Given the description of an element on the screen output the (x, y) to click on. 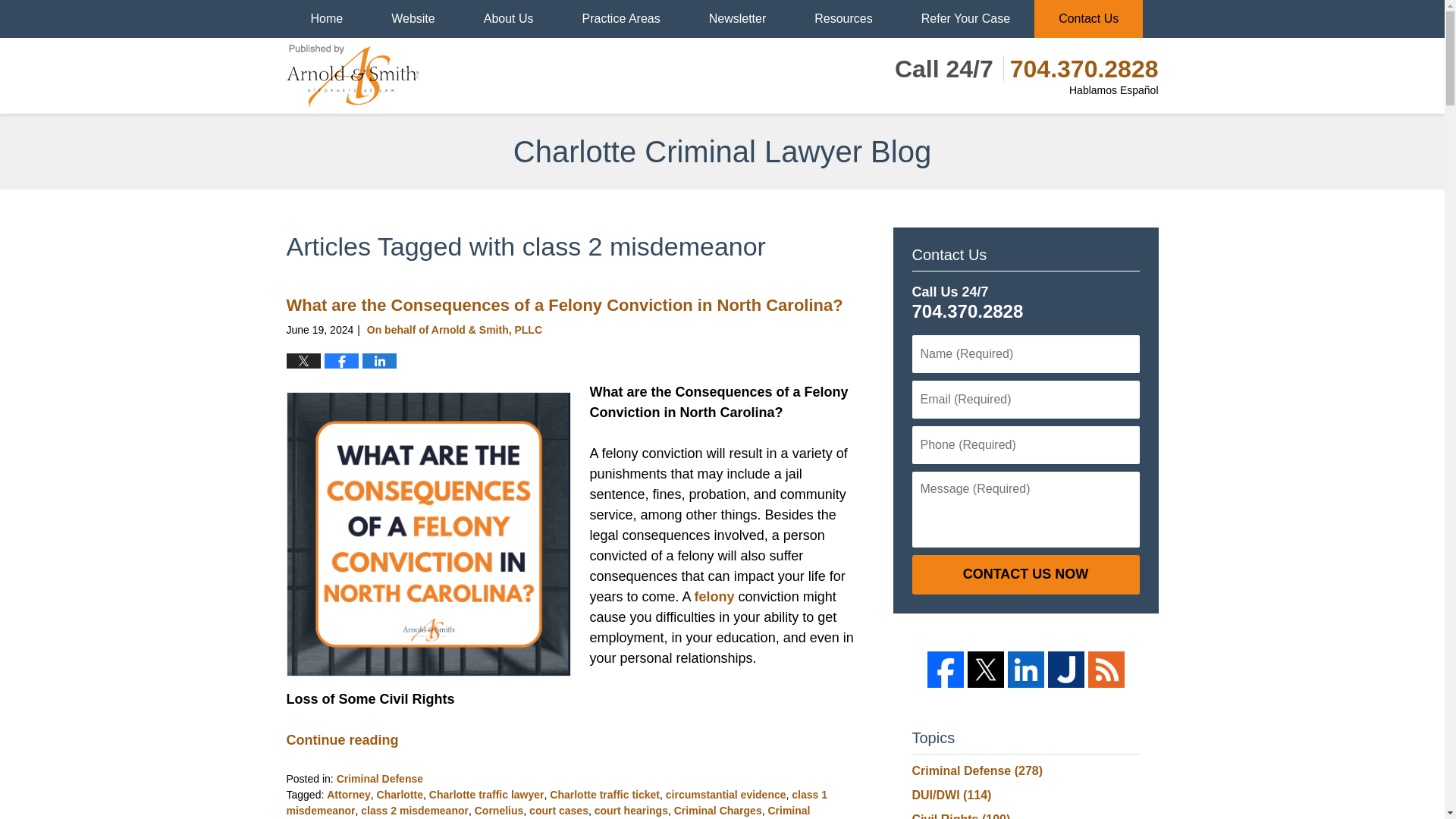
Resources (843, 18)
View all posts tagged with Criminal Defense (548, 811)
circumstantial evidence (725, 794)
felony (714, 596)
View all posts tagged with circumstantial evidence (725, 794)
View all posts tagged with Charlotte traffic ticket (604, 794)
class 1 misdemeanor (557, 802)
View all posts tagged with court cases (558, 810)
View all posts tagged with Cornelius (499, 810)
About Us (508, 18)
